Given the description of an element on the screen output the (x, y) to click on. 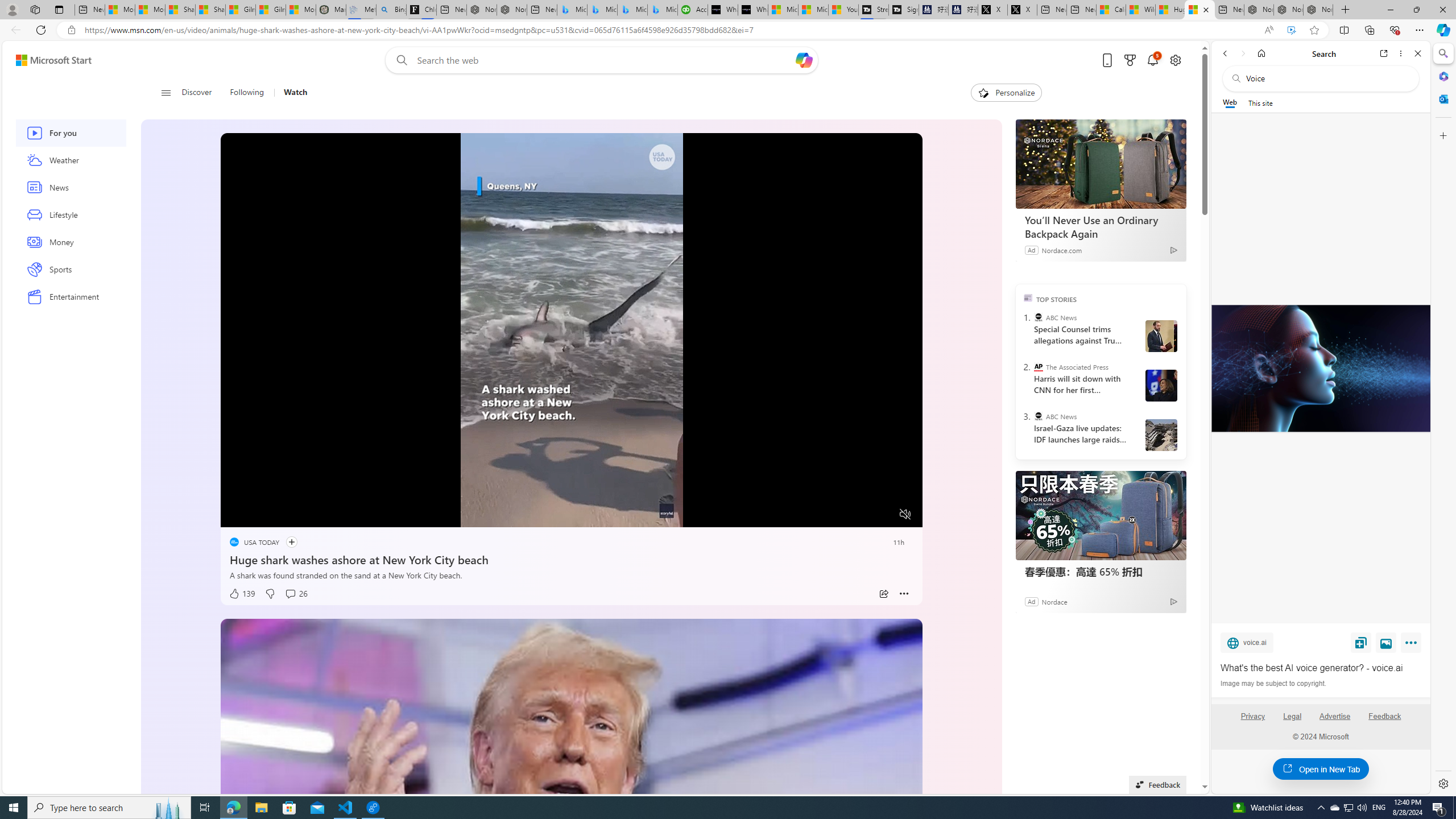
Open link in new tab (1383, 53)
Nordace - Siena Pro 15 Essential Set (1318, 9)
This site scope (1259, 102)
Nordace - #1 Japanese Best-Seller - Siena Smart Backpack (511, 9)
Side bar (1443, 418)
View comments 26 Comment (295, 593)
Quality Settings (838, 514)
Manatee Mortality Statistics | FWC (330, 9)
